Given the description of an element on the screen output the (x, y) to click on. 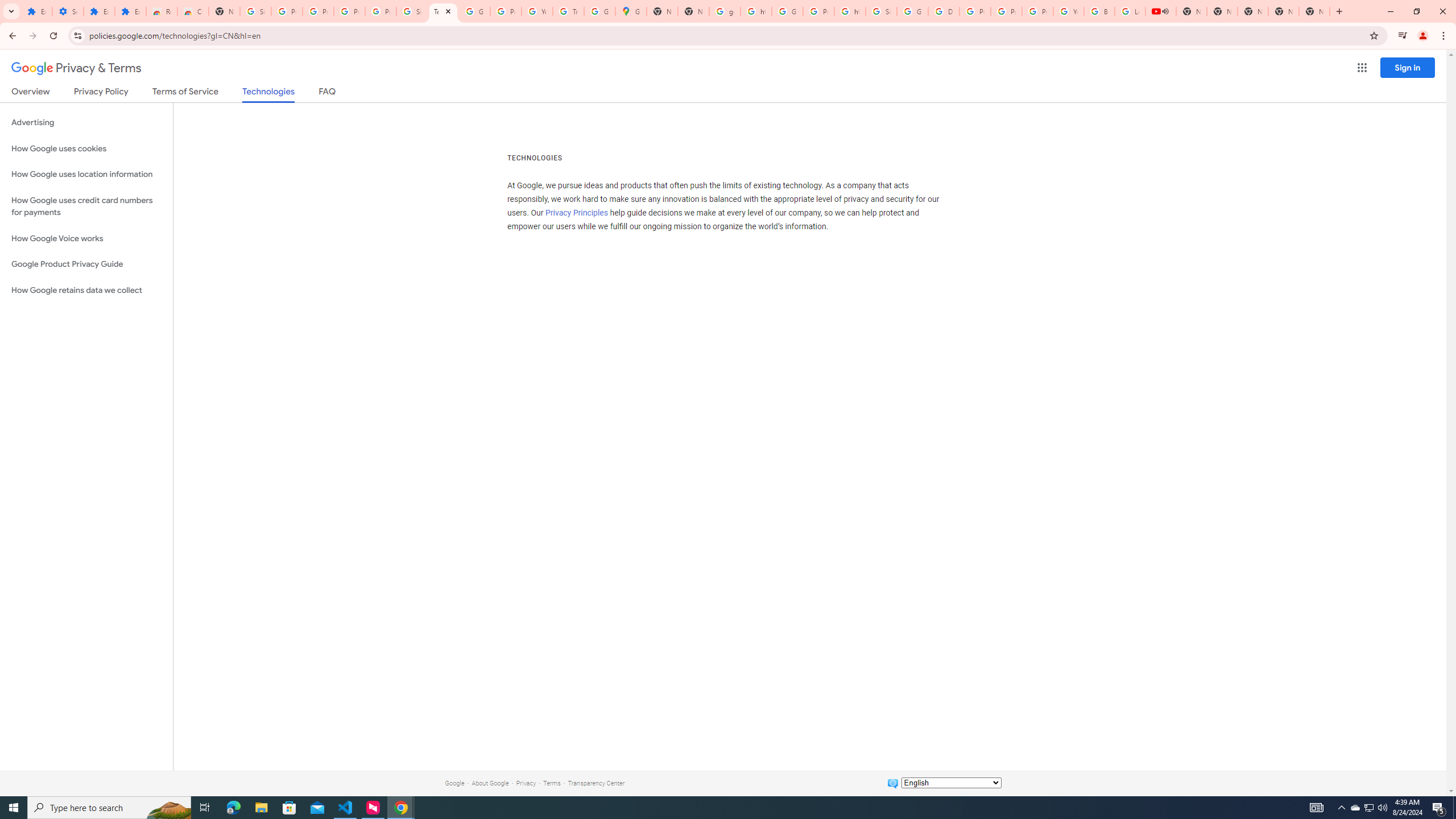
Change language: (951, 782)
YouTube (536, 11)
Privacy (525, 783)
